Given the description of an element on the screen output the (x, y) to click on. 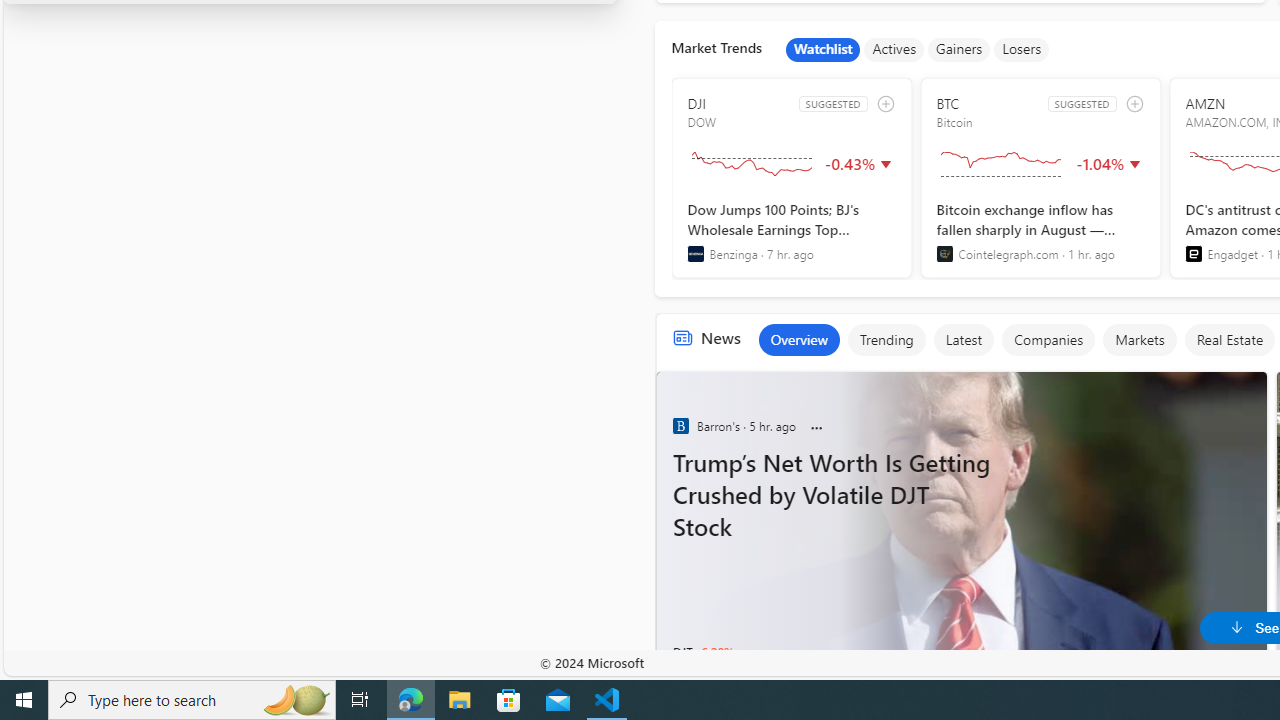
Watchlist (823, 49)
Gainers (959, 49)
BTC SUGGESTED Bitcoin (1040, 178)
Trending (886, 339)
Markets (1139, 339)
Latest (963, 339)
Overview (798, 339)
add to watchlist (1133, 103)
Companies (1047, 339)
DJI SUGGESTED DOW (791, 178)
Engadget (1193, 254)
